Given the description of an element on the screen output the (x, y) to click on. 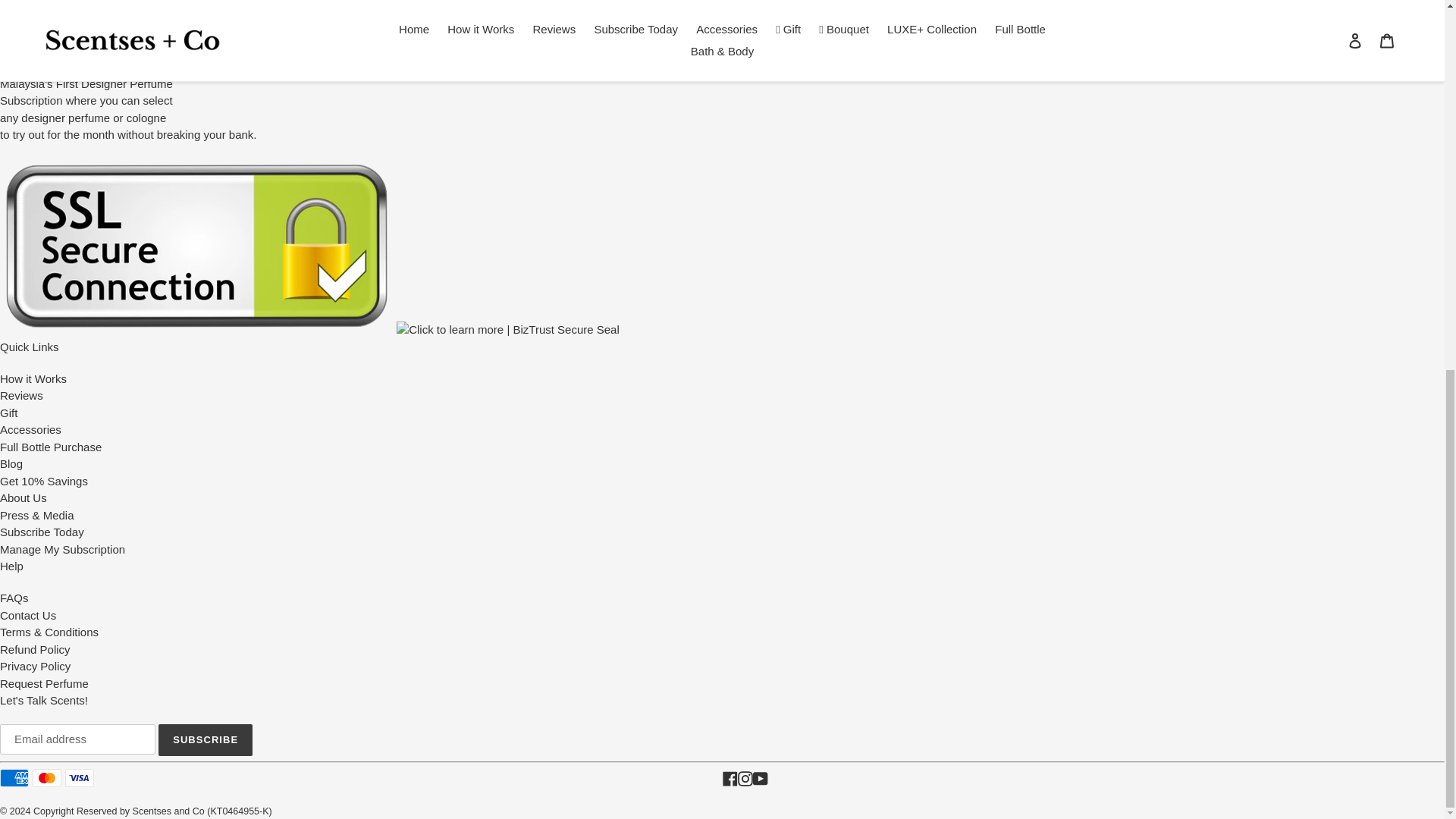
Visa (79, 778)
Mastercard (46, 778)
American Express (14, 778)
